Given the description of an element on the screen output the (x, y) to click on. 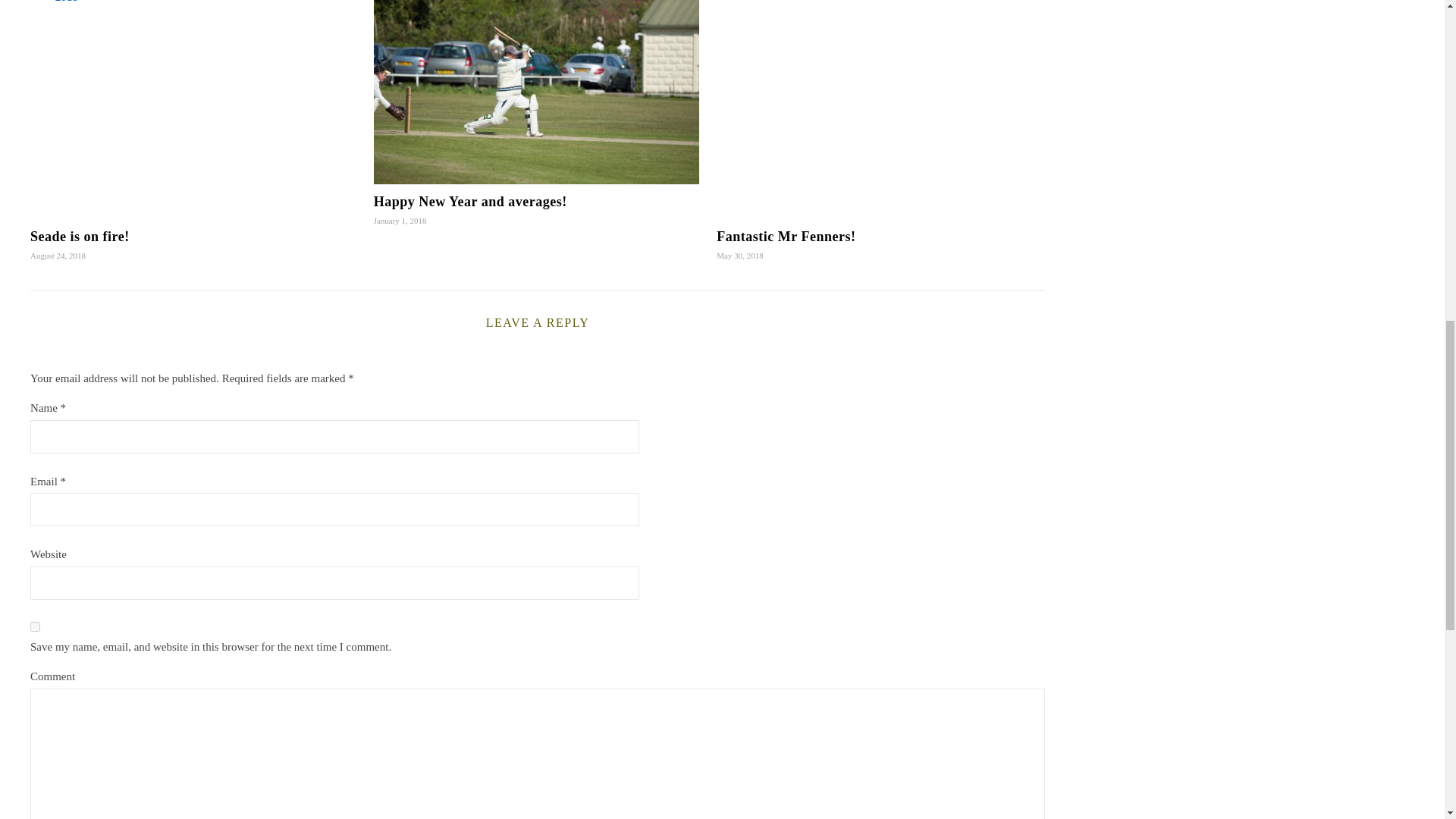
yes (35, 626)
